Given the description of an element on the screen output the (x, y) to click on. 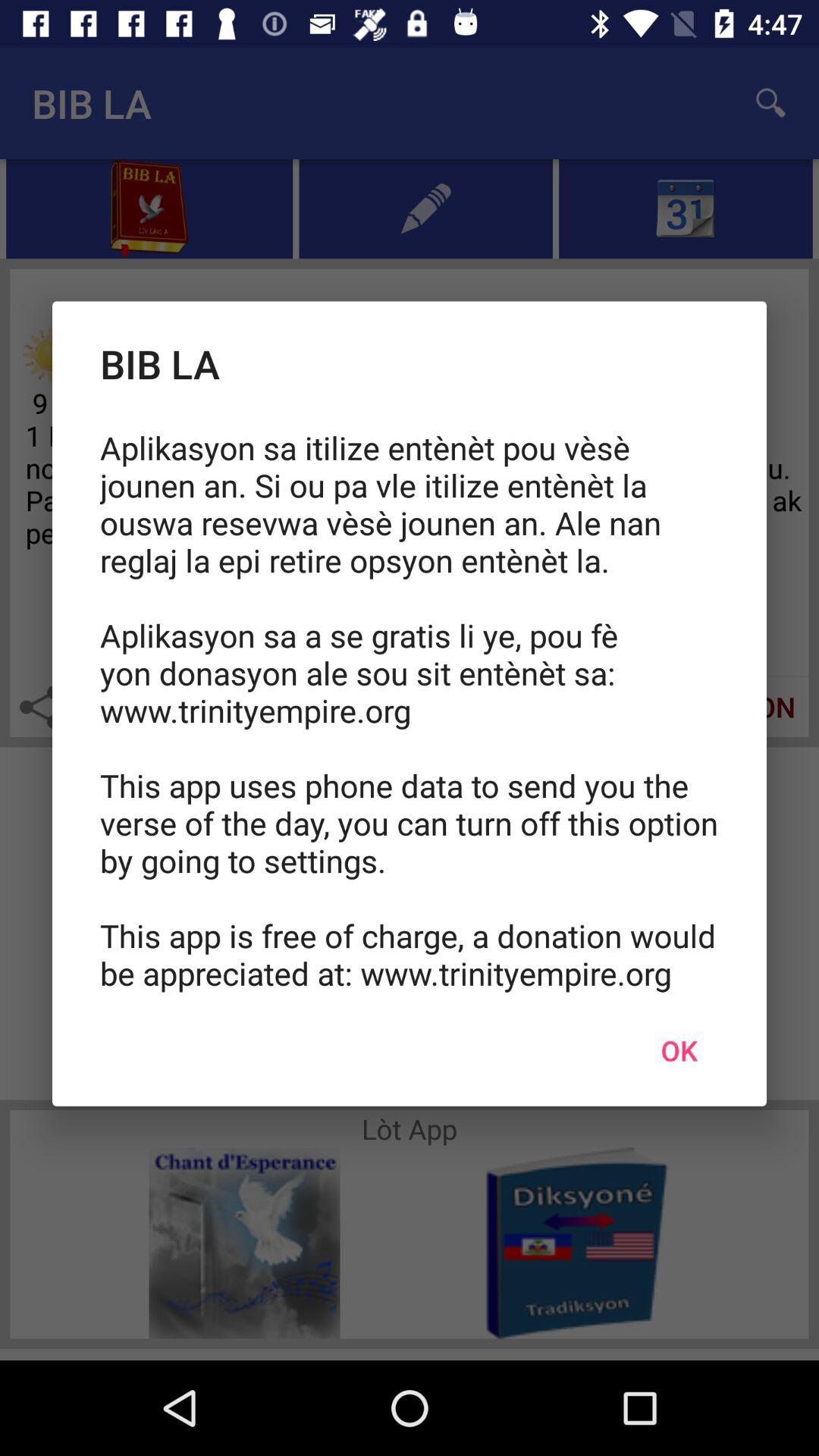
select the icon below aplikasyon sa itilize (678, 1050)
